Given the description of an element on the screen output the (x, y) to click on. 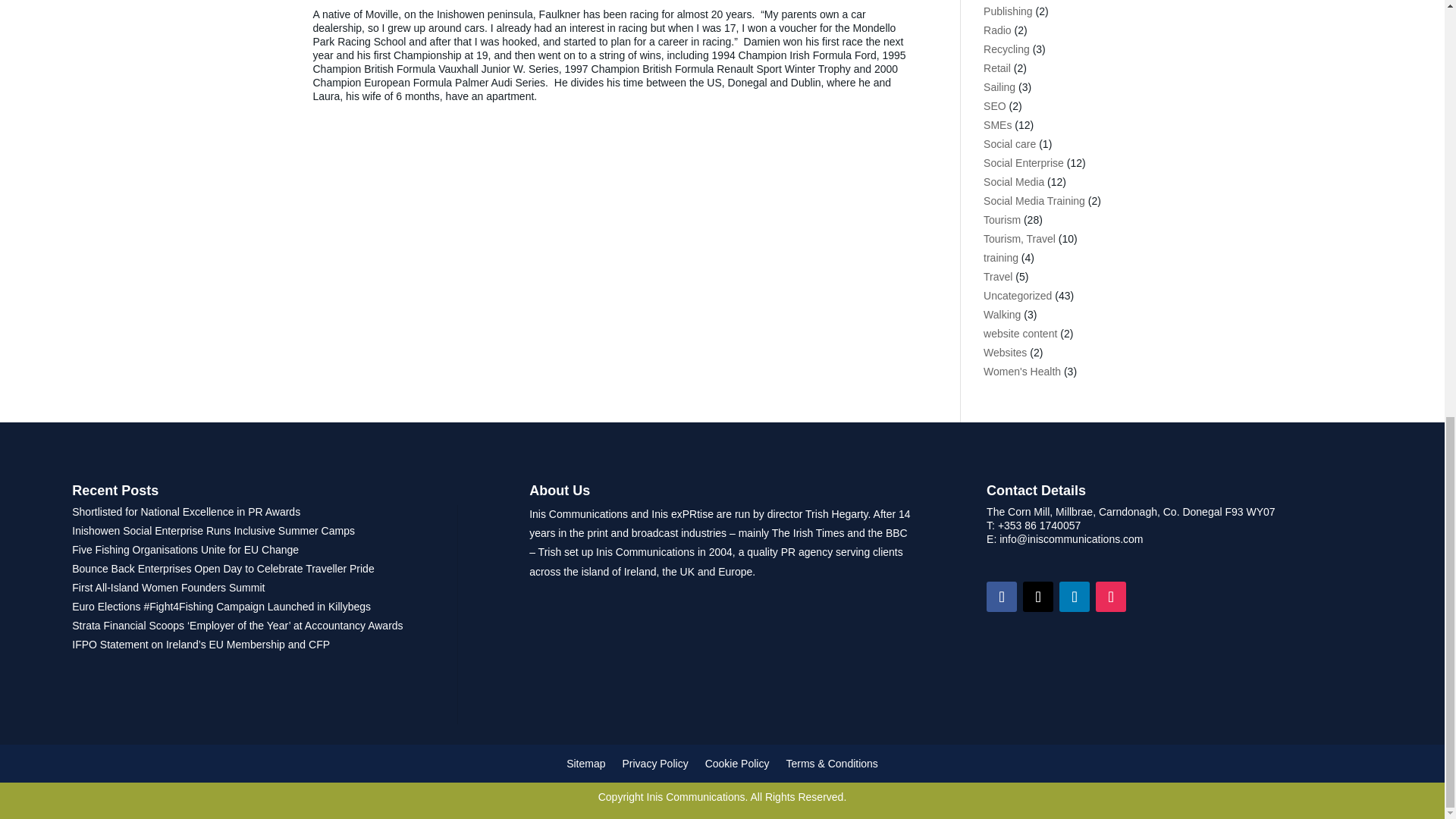
Follow on Facebook (1001, 596)
Follow on Instagram (1110, 596)
Follow on LinkedIn (1074, 596)
Follow on X (1037, 596)
